Given the description of an element on the screen output the (x, y) to click on. 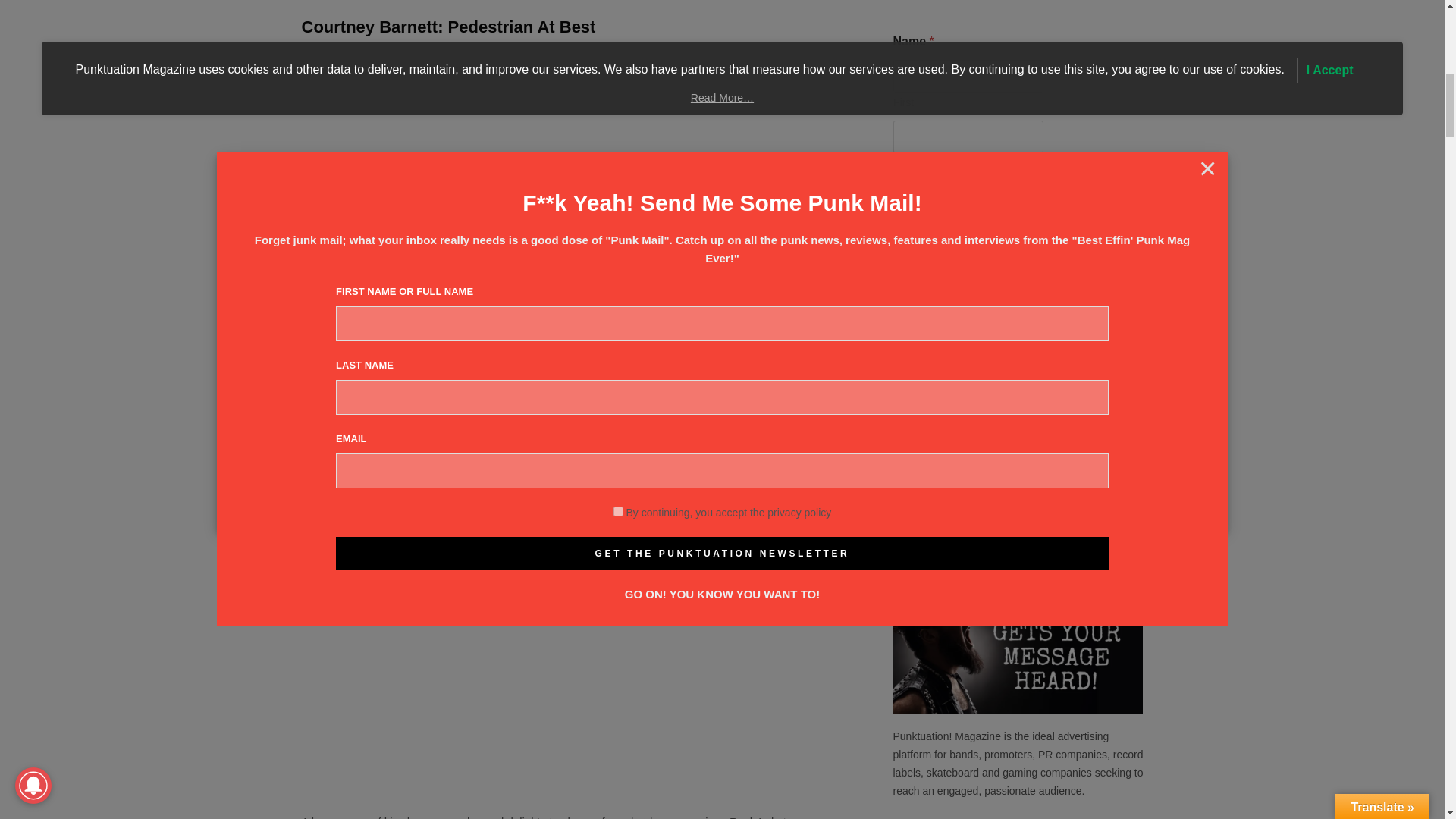
Smash This Button! (960, 441)
